Given the description of an element on the screen output the (x, y) to click on. 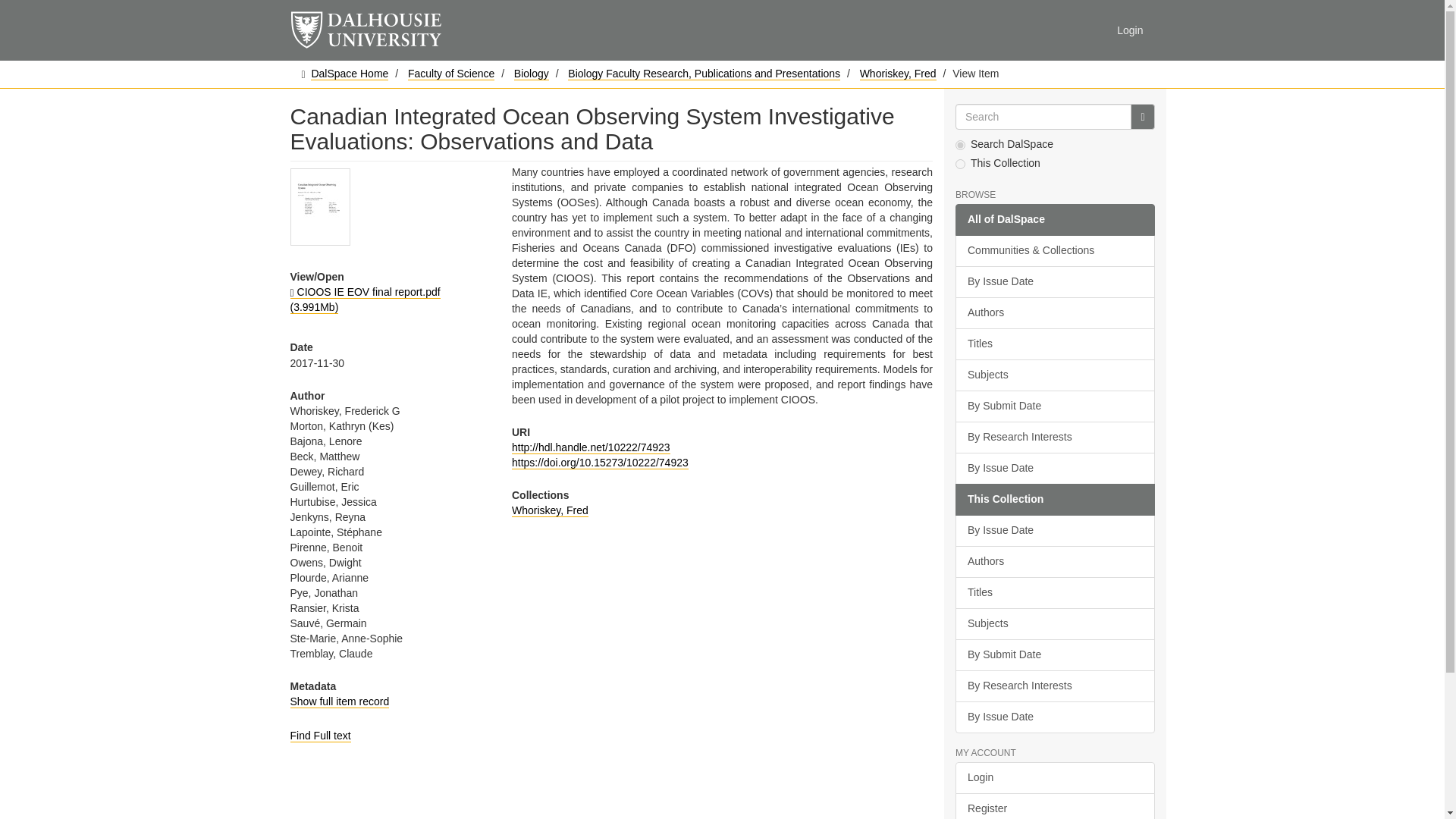
All of DalSpace (1054, 219)
Find Full text (319, 735)
Titles (1054, 344)
Whoriskey, Fred (550, 510)
DalSpace Home (349, 73)
By Issue Date (1054, 468)
By Submit Date (1054, 406)
By Research Interests (1054, 437)
By Issue Date (1054, 282)
Show full item record (338, 701)
